Given the description of an element on the screen output the (x, y) to click on. 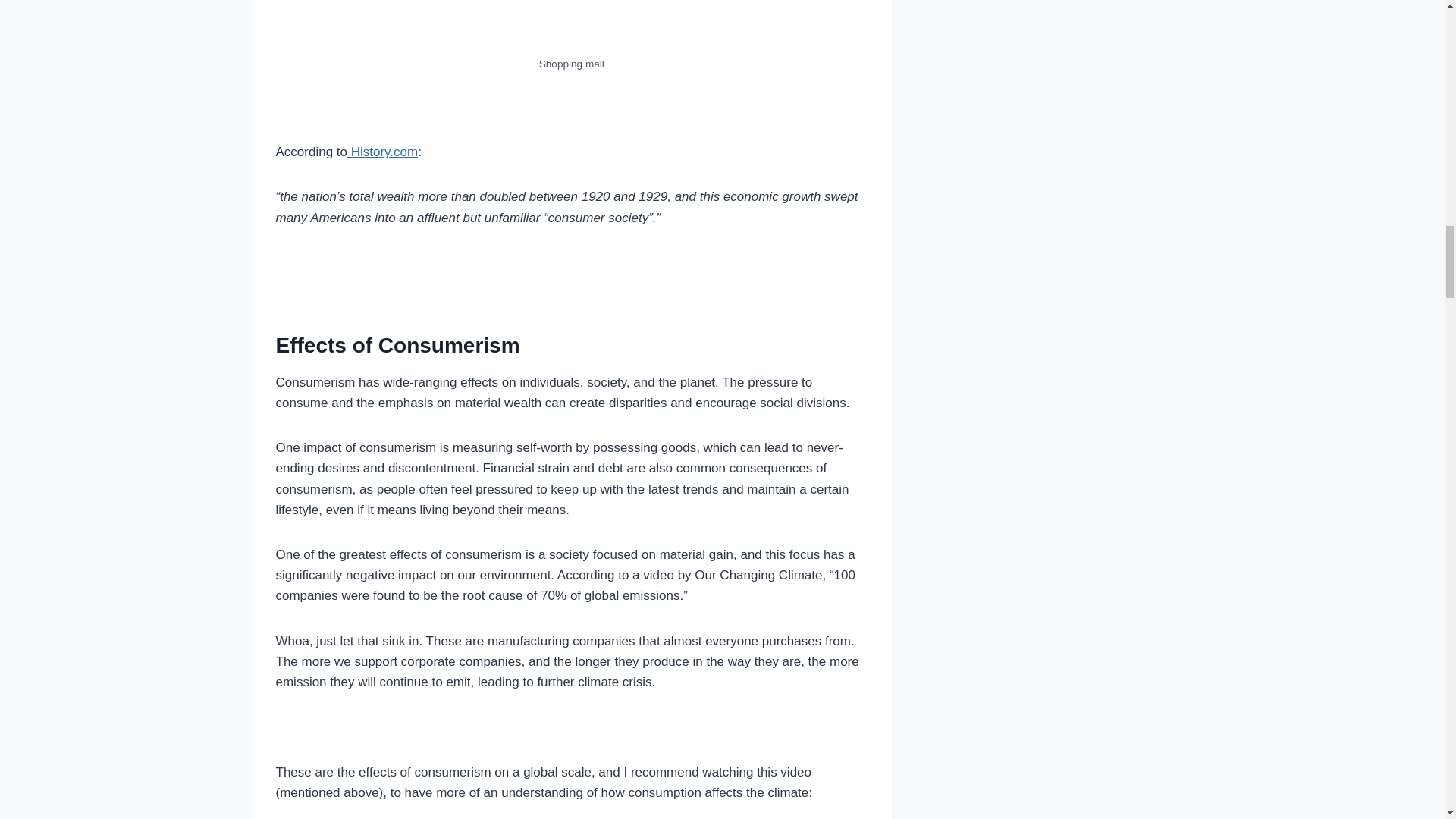
History.com (382, 151)
